Given the description of an element on the screen output the (x, y) to click on. 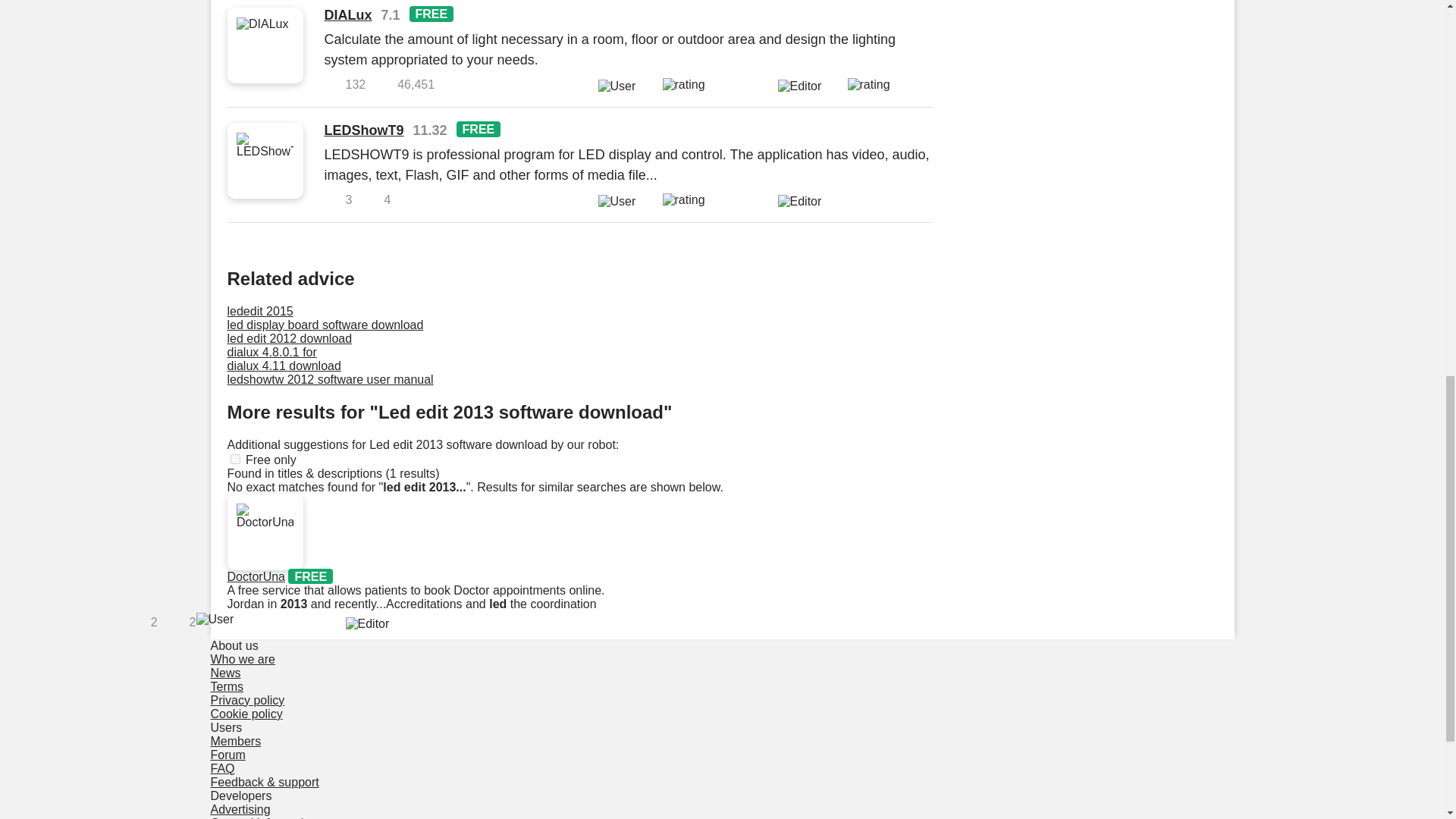
News (226, 672)
Terms (227, 686)
led edit 2012 download (289, 338)
Privacy policy (248, 699)
LEDShowT9 (364, 130)
DIALux (348, 15)
led display board software download (325, 324)
Who we are (243, 658)
on (235, 459)
LEDShowT9 (364, 130)
DoctorUna (256, 576)
dialux 4.8.0.1 for (272, 351)
dialux 4.11 download (283, 365)
lededit 2015 (260, 310)
DIALux (348, 15)
